Given the description of an element on the screen output the (x, y) to click on. 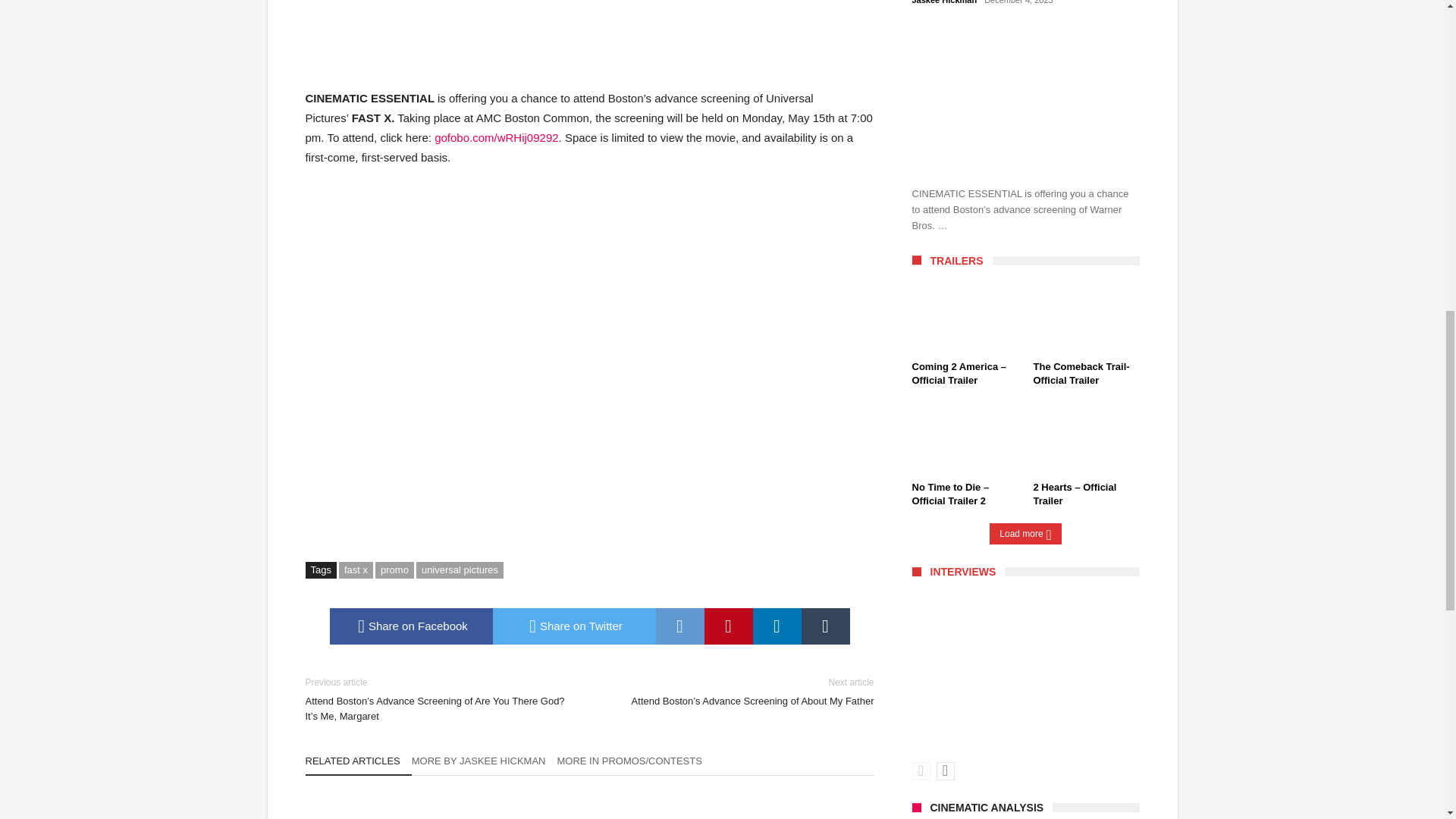
promo (394, 569)
universal pictures (459, 569)
fast x (355, 569)
